Given the description of an element on the screen output the (x, y) to click on. 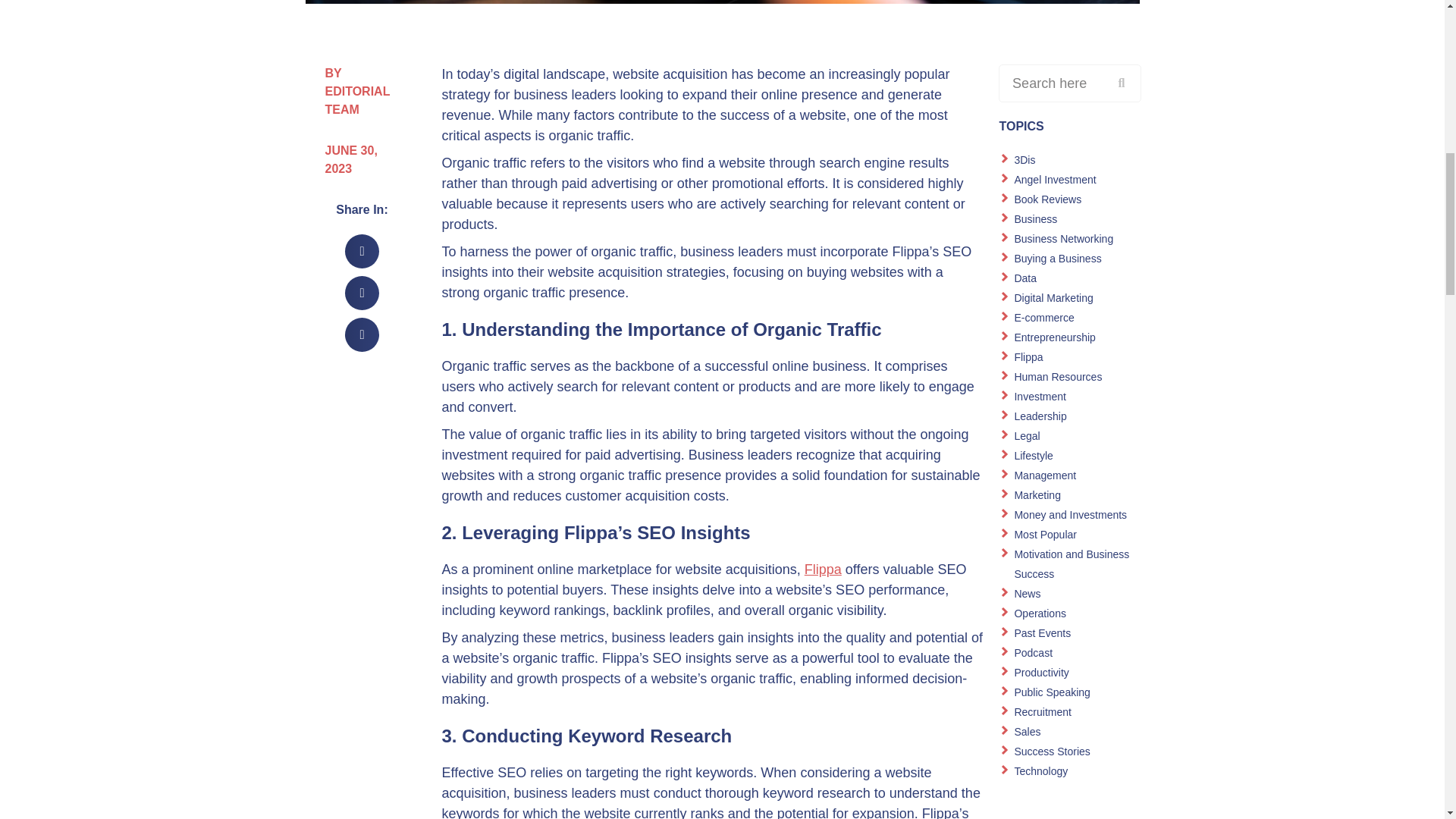
Flippa (823, 569)
BY EDITORIAL TEAM (361, 91)
E-commerce (1043, 317)
Buying a Business (1056, 258)
Human Resources (1057, 377)
Book Reviews (1047, 199)
3Dis (1024, 159)
Data (1024, 277)
Legal (1026, 435)
Angel Investment (1054, 179)
